Given the description of an element on the screen output the (x, y) to click on. 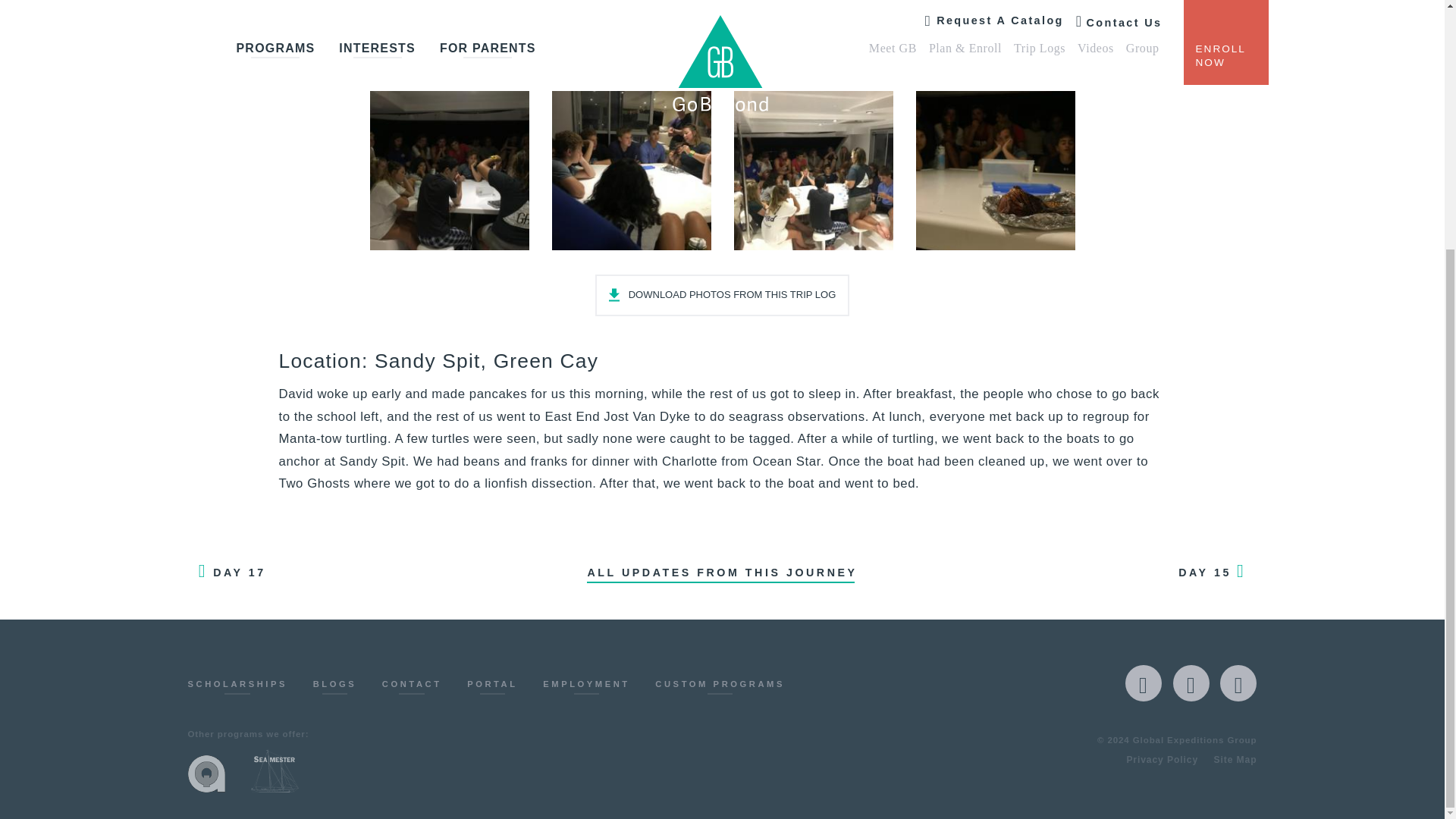
DAY 15 (1216, 572)
SCHOLARSHIPS (237, 687)
BLOGS (334, 687)
instagram (1191, 683)
DAY 17 (226, 572)
ALL UPDATES FROM THIS JOURNEY (721, 572)
facebook (1143, 683)
PORTAL (492, 687)
youtube (1238, 683)
DOWNLOAD PHOTOS FROM THIS TRIP LOG (722, 295)
CONTACT (411, 687)
